Given the description of an element on the screen output the (x, y) to click on. 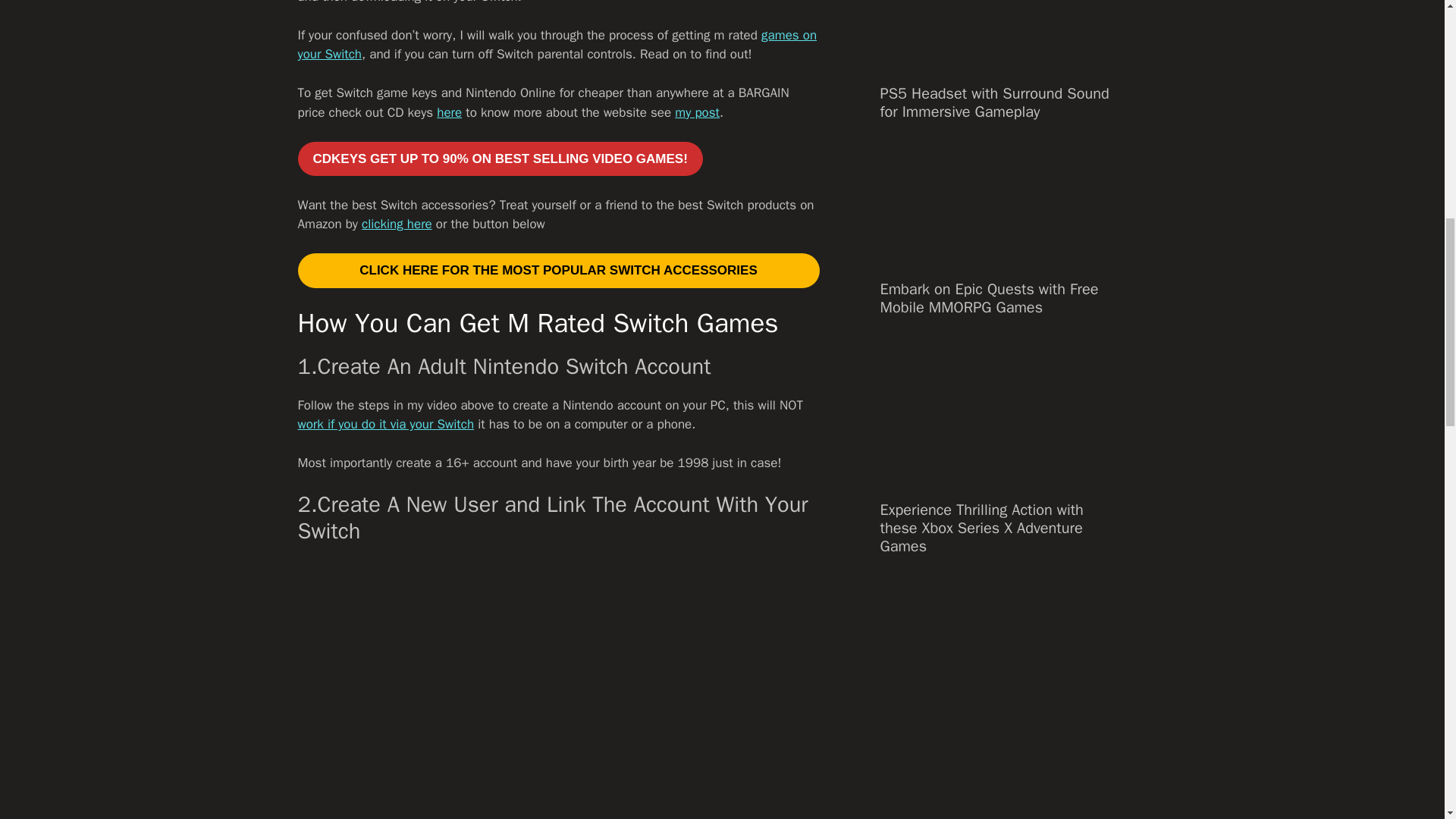
here (448, 112)
Link Nintendo Account Nintendo Switch (557, 691)
games on your Switch (556, 45)
Scroll back to top (1406, 720)
clicking here (396, 223)
work if you do it via your Switch (385, 424)
my post (697, 112)
CLICK HERE FOR THE MOST POPULAR SWITCH ACCESSORIES (557, 270)
